Given the description of an element on the screen output the (x, y) to click on. 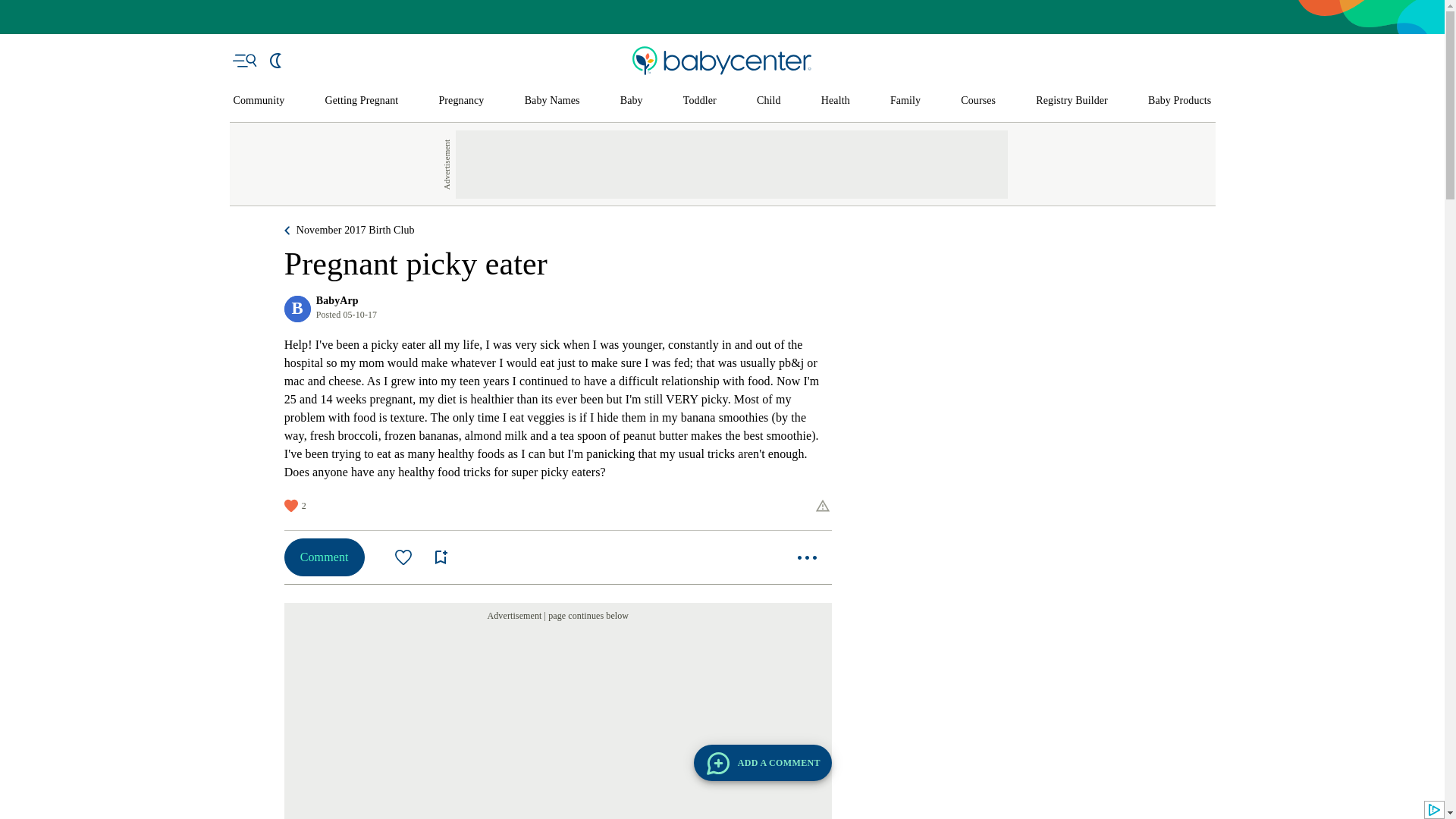
Family (904, 101)
Registry Builder (1071, 101)
Toddler (699, 101)
Getting Pregnant (360, 101)
Courses (977, 101)
Baby Names (551, 101)
Baby (631, 101)
Health (835, 101)
Baby Products (1179, 101)
Child (768, 101)
